Given the description of an element on the screen output the (x, y) to click on. 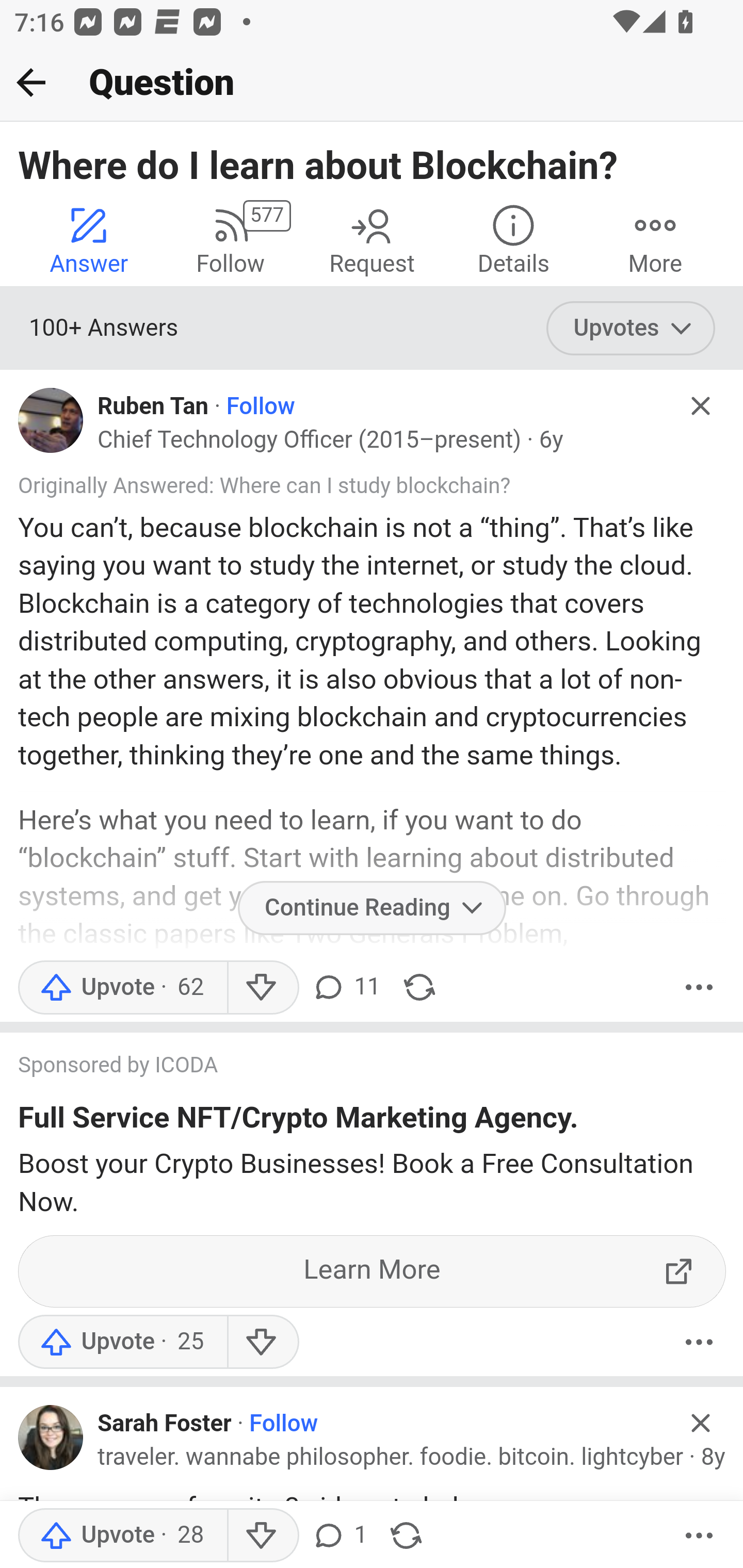
Back Question (371, 82)
Back (30, 82)
Answer (88, 239)
577 Follow (230, 239)
Request (371, 239)
Details (513, 239)
More (655, 239)
Upvotes (630, 327)
Hide (700, 405)
Profile photo for Ruben Tan (50, 420)
Ruben Tan (153, 406)
Follow (260, 406)
6y 6 y (550, 439)
Where can I study blockchain? (364, 484)
Continue Reading (371, 907)
Upvote (122, 986)
Downvote (262, 986)
11 comments (345, 986)
Share (419, 986)
More (699, 986)
Sponsored by ICODA (352, 1065)
Full Service NFT/Crypto Marketing Agency. (298, 1121)
Learn More ExternalLink (372, 1271)
Upvote (122, 1341)
Downvote (262, 1341)
More (699, 1341)
Hide (700, 1423)
Profile photo for Sarah Foster (50, 1437)
Sarah Foster (164, 1423)
Follow (283, 1423)
8y 8 y (712, 1457)
Upvote (122, 1535)
Downvote (262, 1535)
1 comment (338, 1535)
Share (405, 1535)
More (699, 1535)
